Given the description of an element on the screen output the (x, y) to click on. 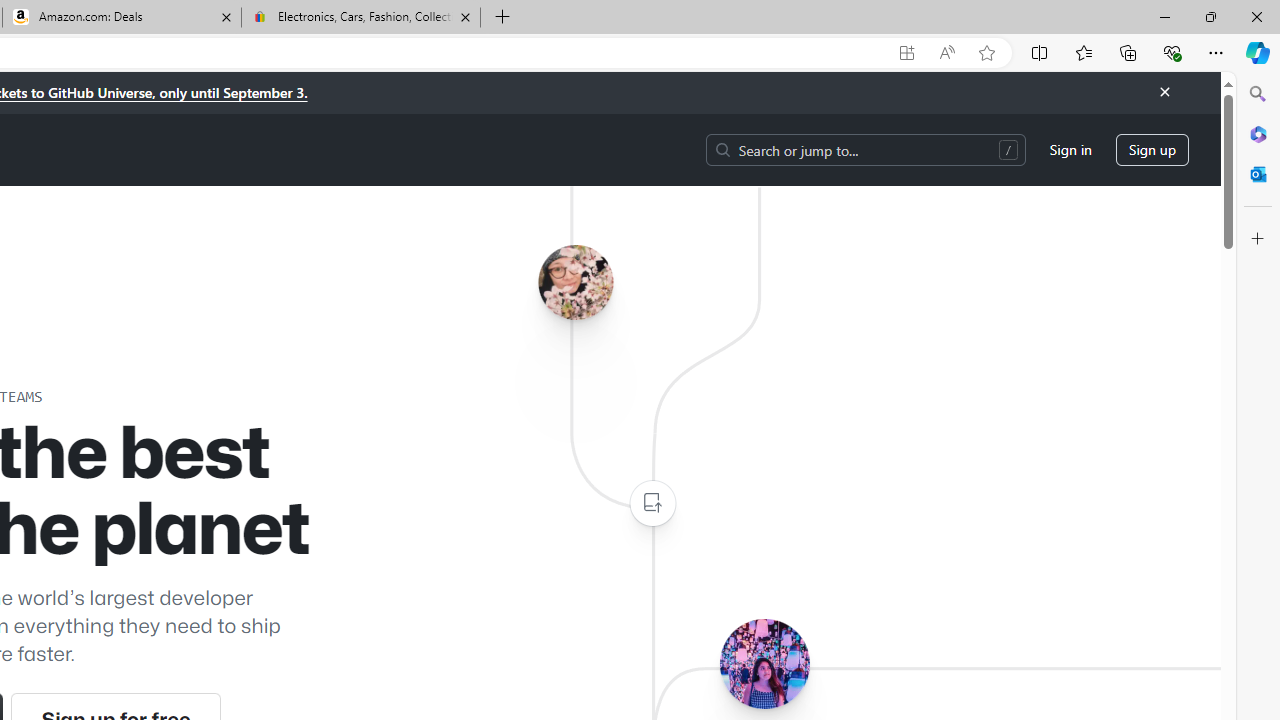
Avatar of the user teenage-witch (764, 663)
Class: color-fg-muted width-full (652, 503)
App available. Install GitHub (906, 53)
